Given the description of an element on the screen output the (x, y) to click on. 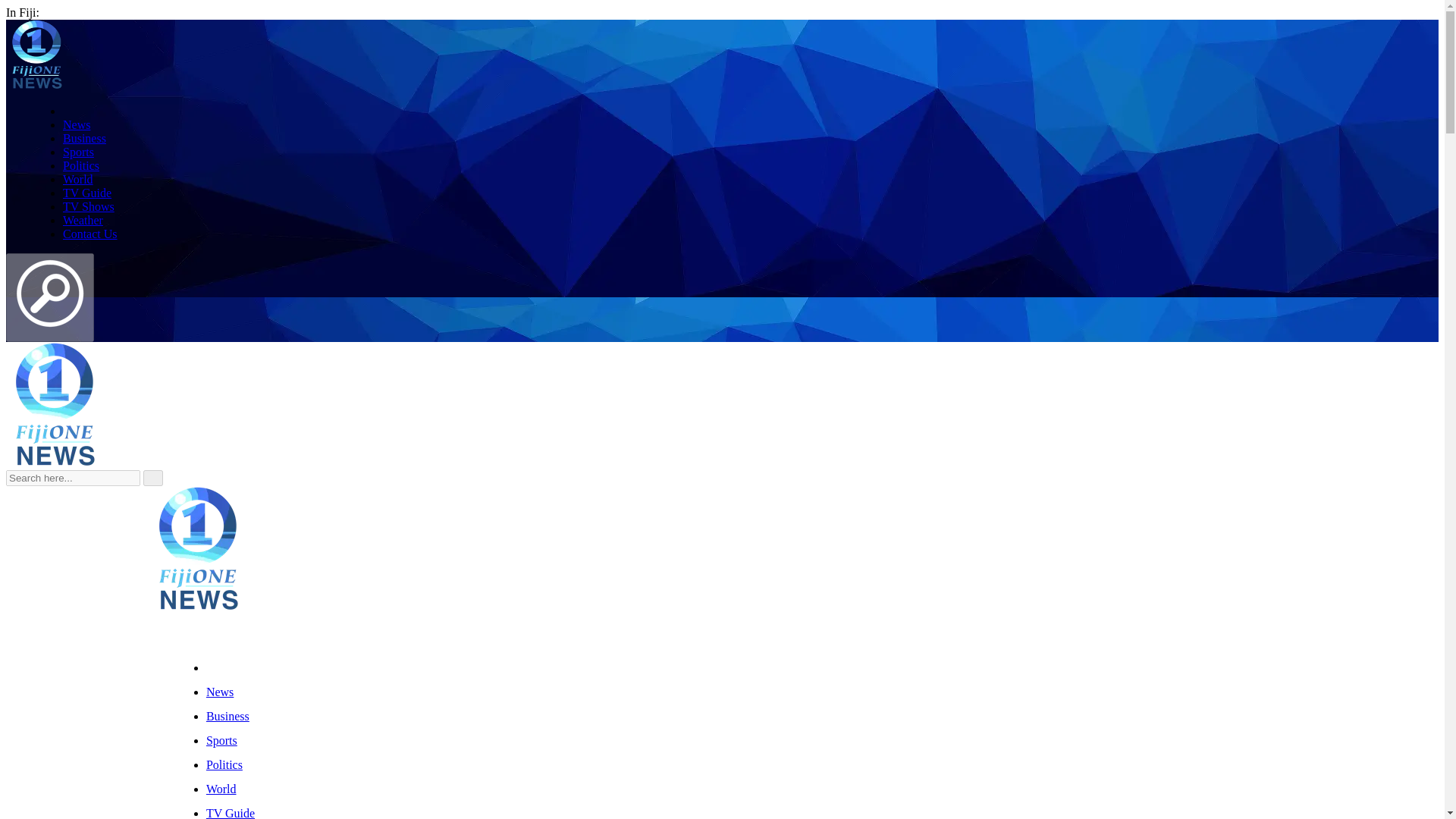
Business (84, 137)
Weather (82, 219)
TV Guide (230, 812)
World (220, 788)
Politics (80, 164)
News (76, 124)
TV Shows (88, 205)
TV Guide (87, 192)
News (219, 691)
World (77, 178)
Sports (221, 739)
Contact Us (89, 233)
Business (227, 716)
Sports (78, 151)
Politics (224, 764)
